Given the description of an element on the screen output the (x, y) to click on. 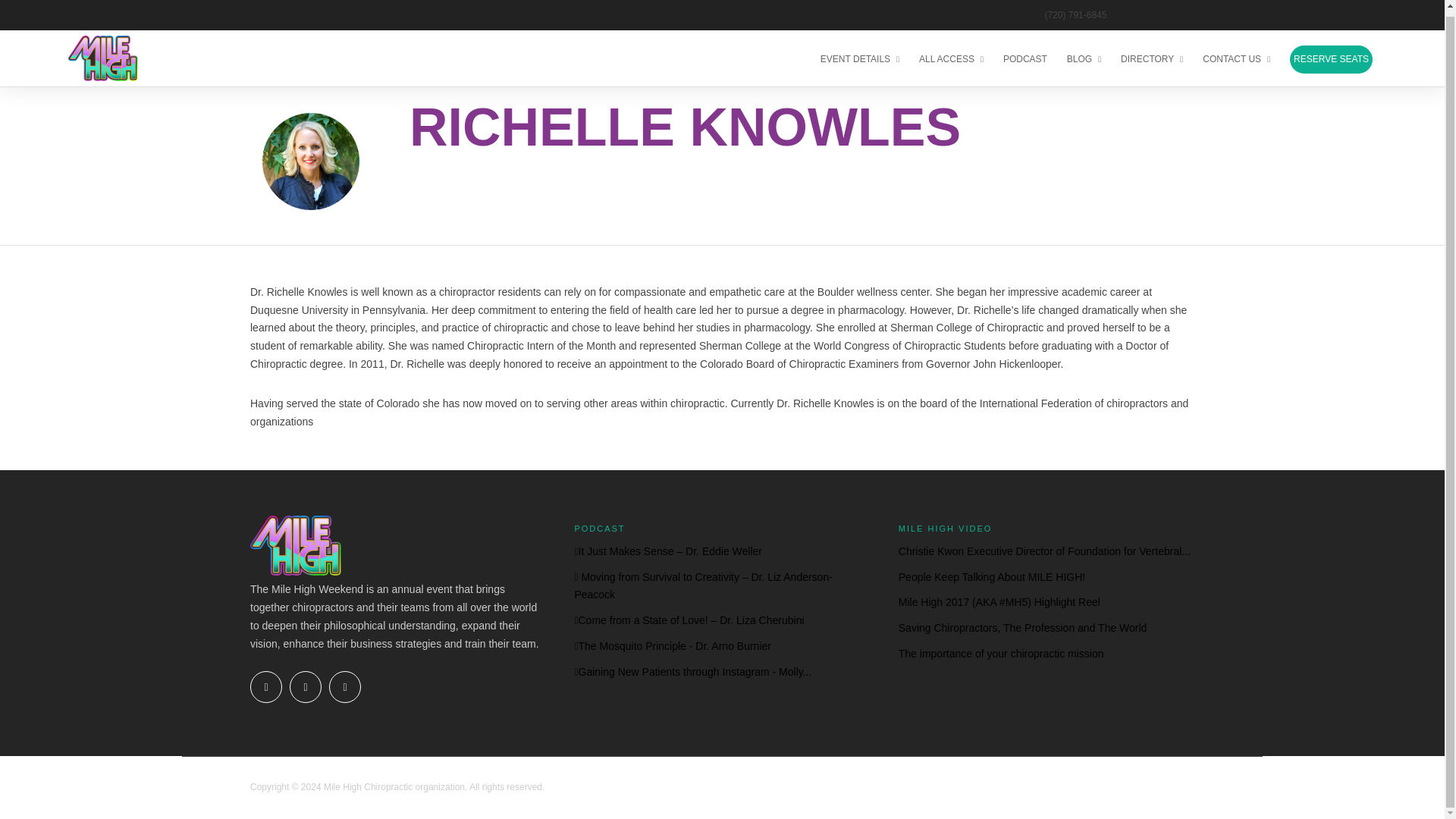
Instagram (345, 686)
JOIN OUR FACEBOOK GROUP (946, 9)
Facebook (266, 686)
EVENT DETAILS (866, 52)
Twitter (305, 686)
